Given the description of an element on the screen output the (x, y) to click on. 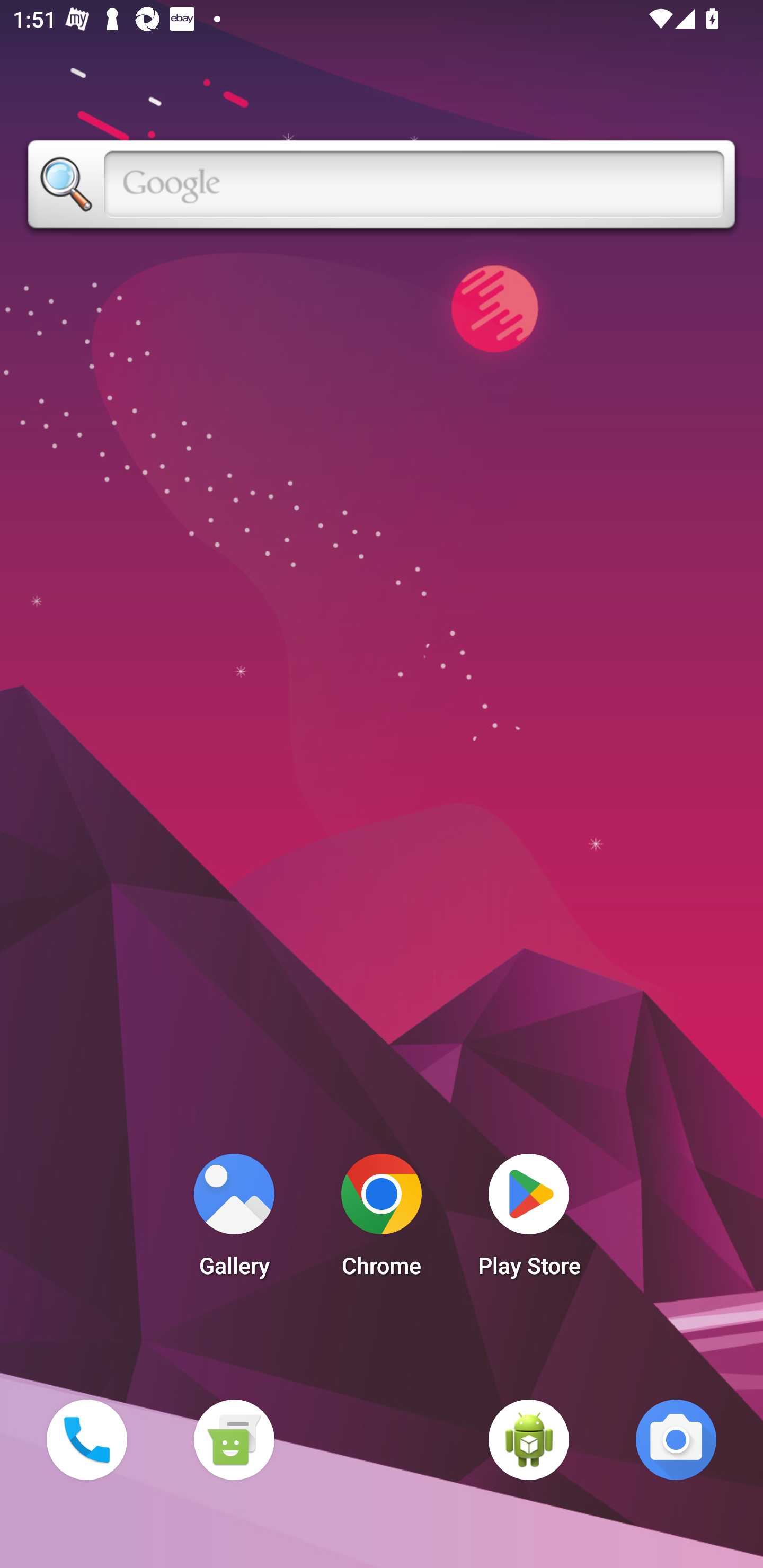
Gallery (233, 1220)
Chrome (381, 1220)
Play Store (528, 1220)
Phone (86, 1439)
Messaging (233, 1439)
WebView Browser Tester (528, 1439)
Camera (676, 1439)
